Given the description of an element on the screen output the (x, y) to click on. 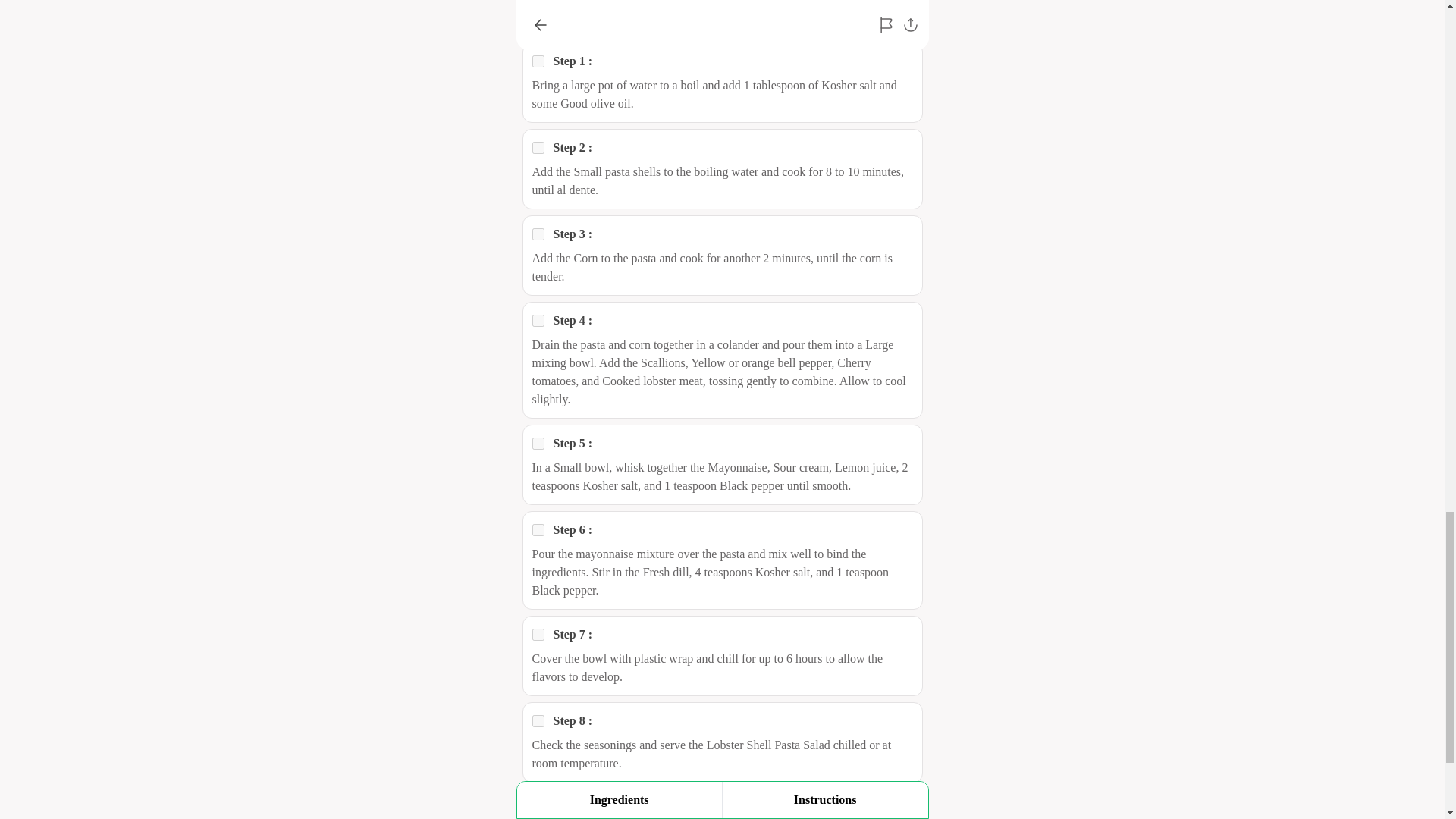
Paneer (538, 234)
Paneer (538, 530)
Paneer (538, 443)
Paneer (538, 320)
Paneer (538, 634)
Paneer (538, 61)
Paneer (538, 147)
